Given the description of an element on the screen output the (x, y) to click on. 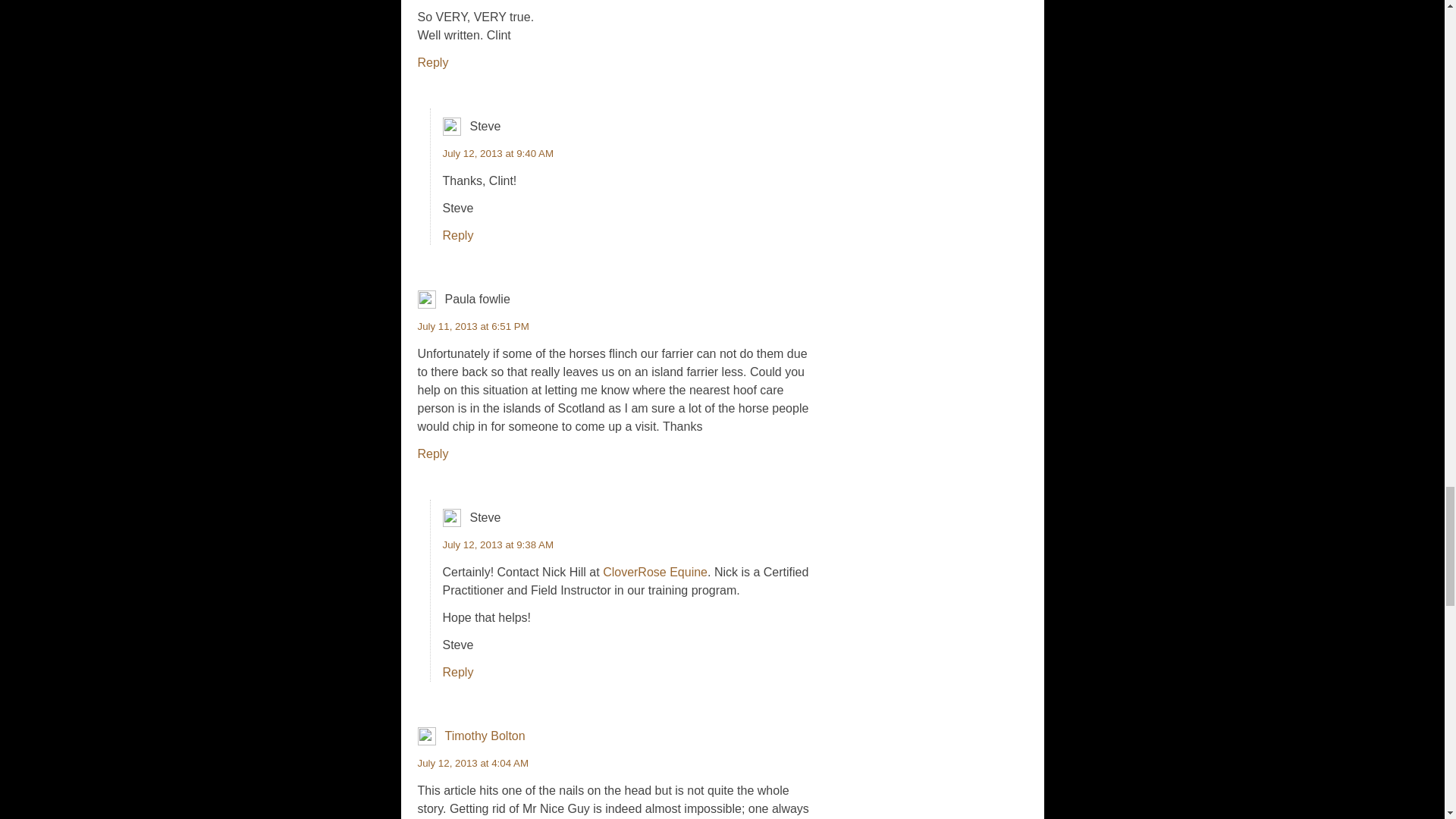
Reply (432, 453)
July 12, 2013 at 9:40 AM (498, 153)
Reply (432, 62)
Reply (458, 235)
CloverRose Equine (654, 571)
Timothy Bolton (484, 735)
July 12, 2013 at 9:38 AM (498, 544)
July 11, 2013 at 6:51 PM (472, 326)
Reply (458, 671)
July 12, 2013 at 4:04 AM (472, 763)
